Given the description of an element on the screen output the (x, y) to click on. 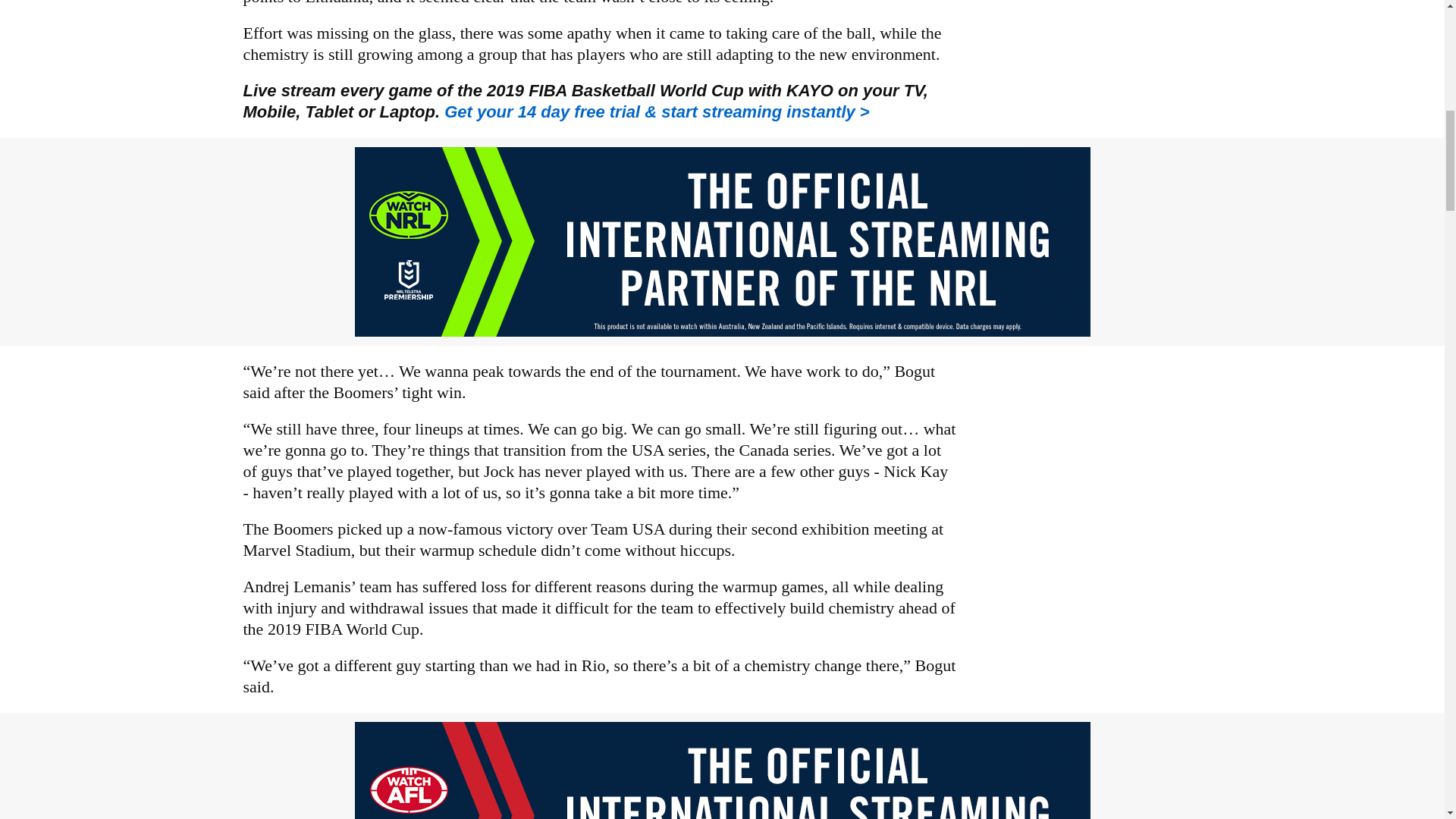
3rd party ad content (722, 770)
